Given the description of an element on the screen output the (x, y) to click on. 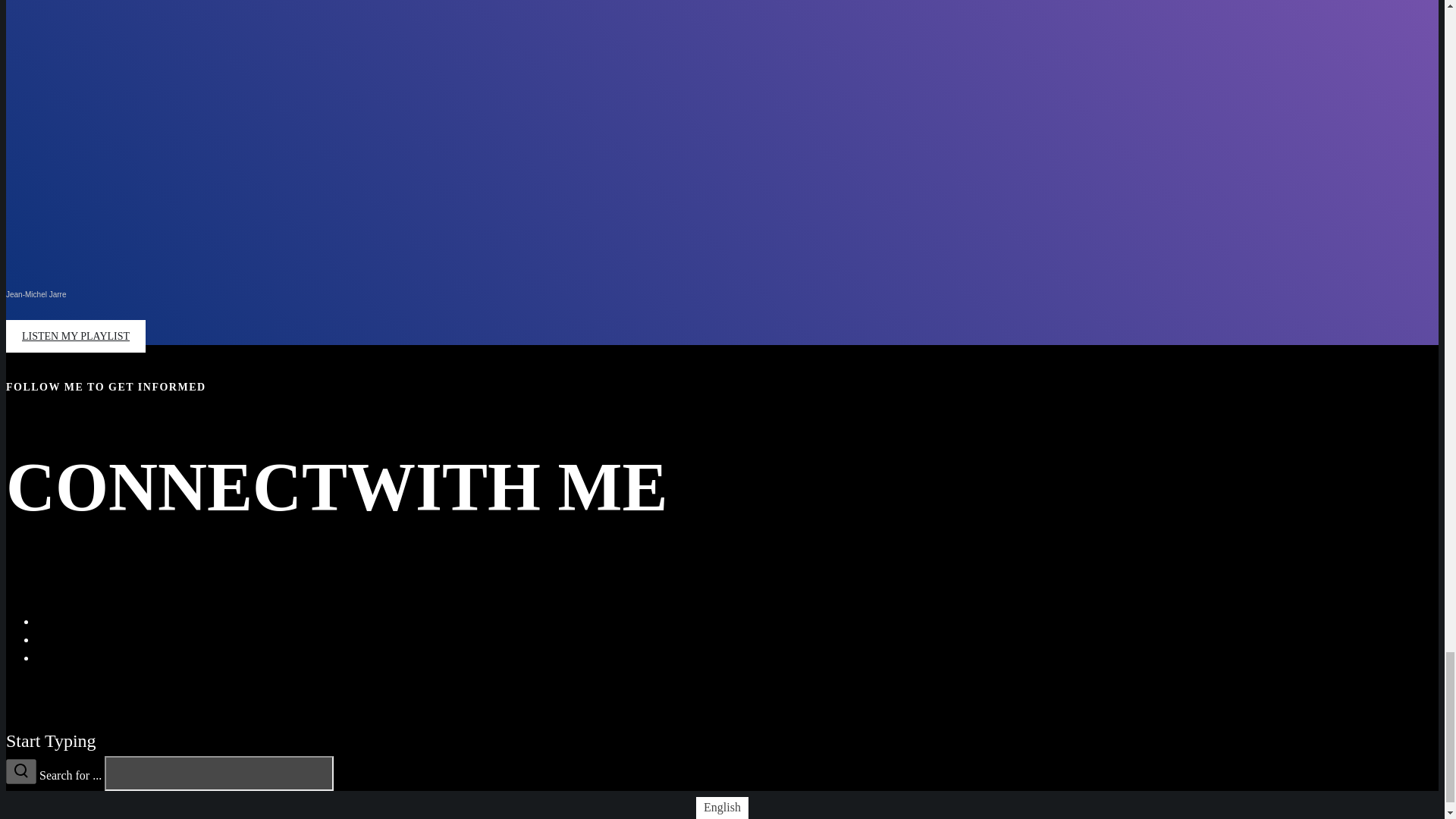
Close (14, 716)
English (721, 807)
LISTEN MY PLAYLIST (75, 336)
